Given the description of an element on the screen output the (x, y) to click on. 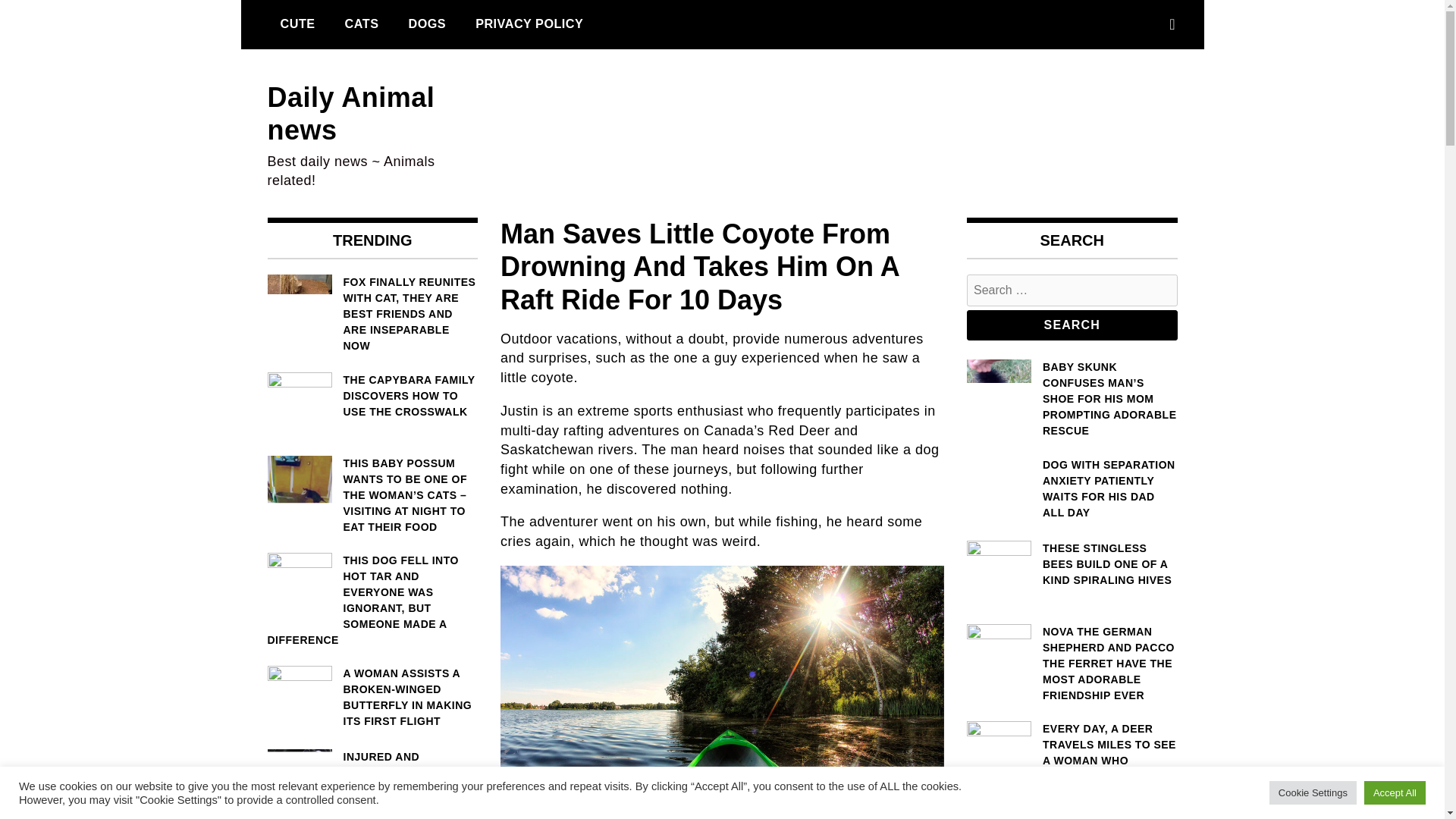
THESE STINGLESS BEES BUILD ONE OF A KIND SPIRALING HIVES (1071, 564)
DOGS (426, 23)
Search (1071, 325)
INJURED AND MALNOURISHED WOLF SAVED FROM ICY RIVER (371, 772)
Daily Animal news (349, 113)
CATS (361, 23)
Search (1071, 325)
